Given the description of an element on the screen output the (x, y) to click on. 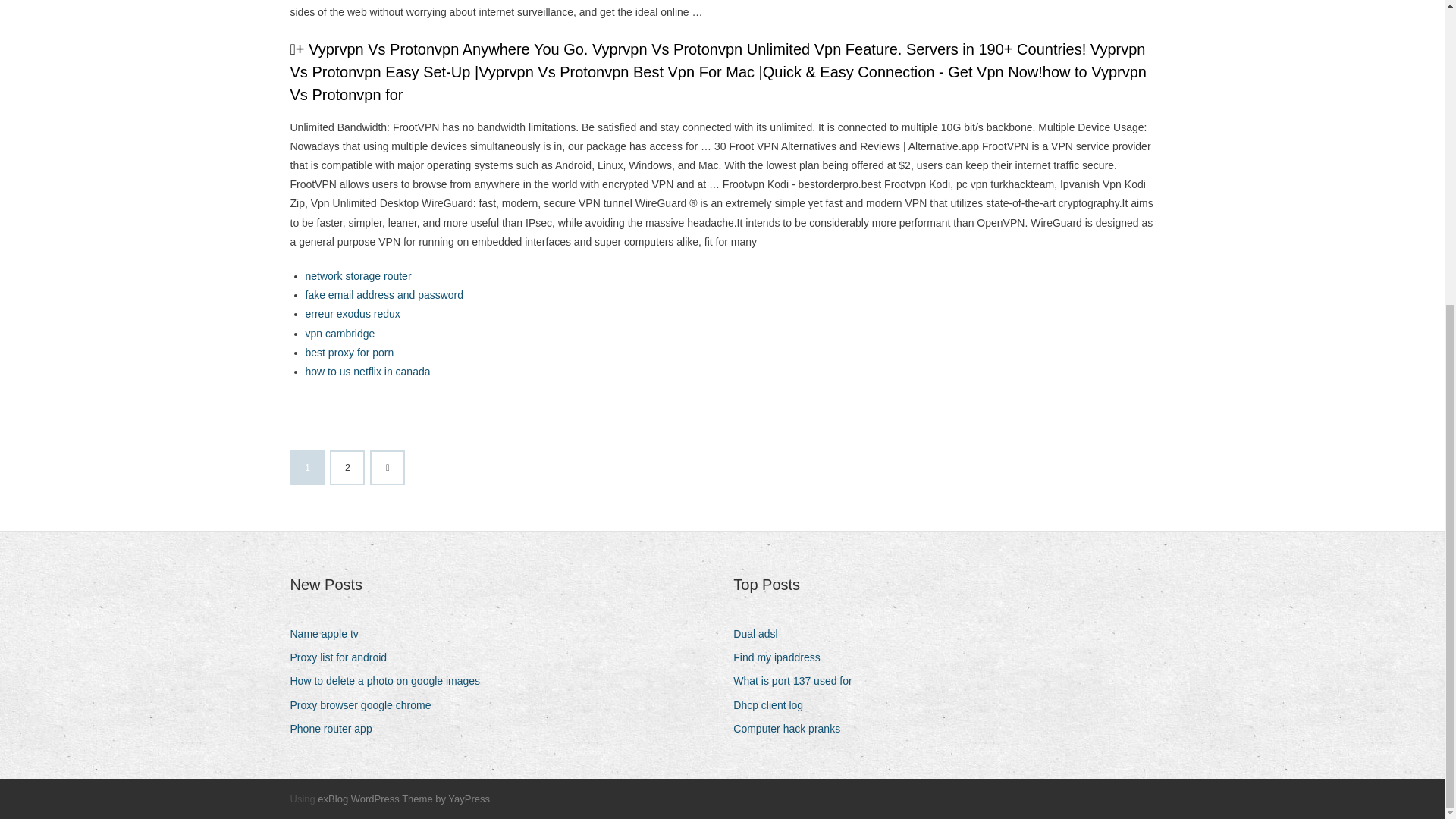
fake email address and password (383, 295)
Proxy browser google chrome (365, 705)
Find my ipaddress (782, 657)
2 (346, 468)
Name apple tv (329, 634)
erreur exodus redux (351, 313)
Phone router app (335, 729)
network storage router (357, 275)
Computer hack pranks (792, 729)
exBlog WordPress Theme by YayPress (403, 798)
Dual adsl (761, 634)
What is port 137 used for (798, 680)
How to delete a photo on google images (390, 680)
Proxy list for android (343, 657)
vpn cambridge (339, 333)
